Given the description of an element on the screen output the (x, y) to click on. 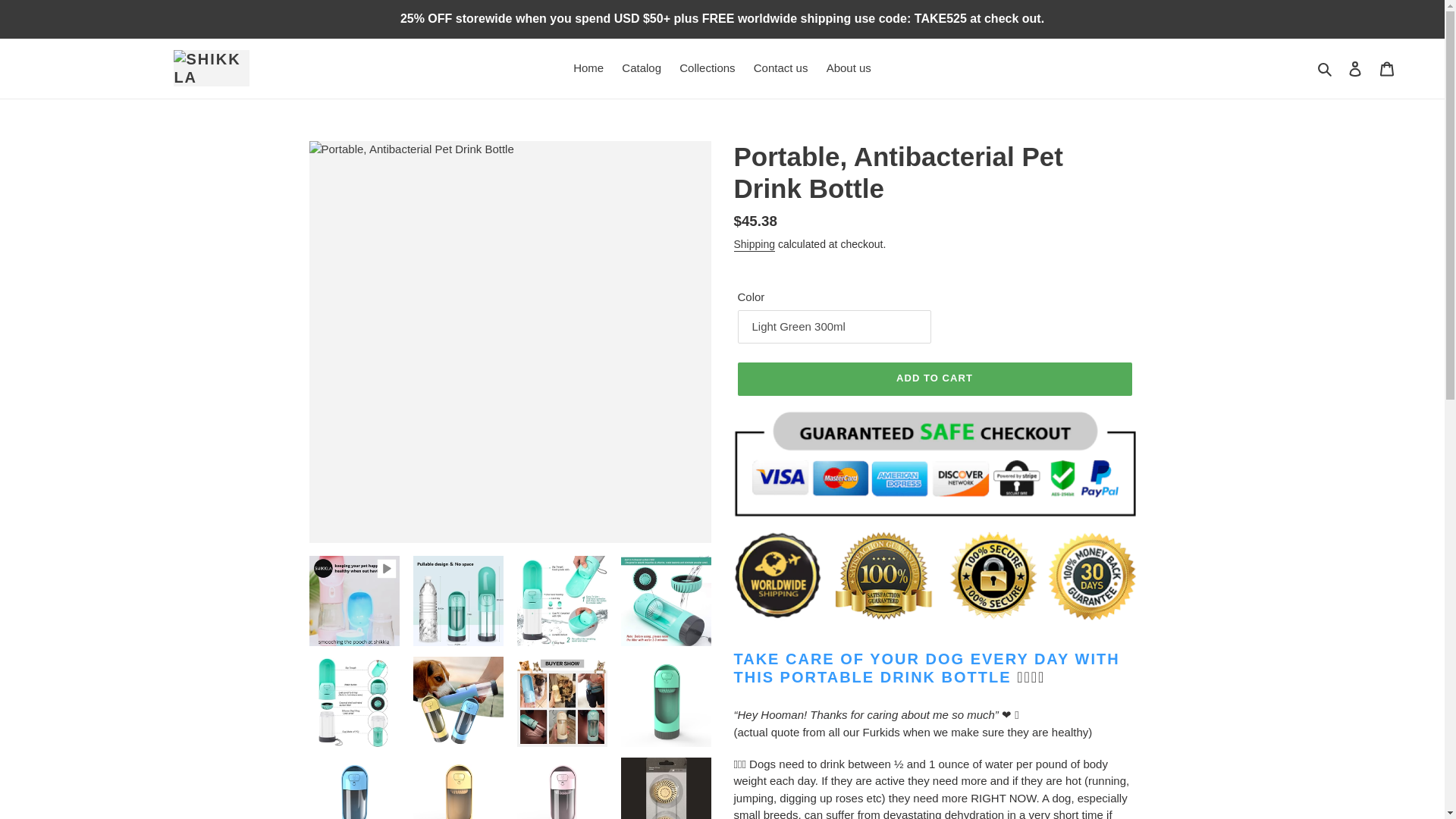
Search (1326, 67)
Home (588, 68)
Log in (1355, 68)
Contact us (780, 68)
Cart (1387, 68)
Collections (706, 68)
About us (848, 68)
Catalog (641, 68)
